Given the description of an element on the screen output the (x, y) to click on. 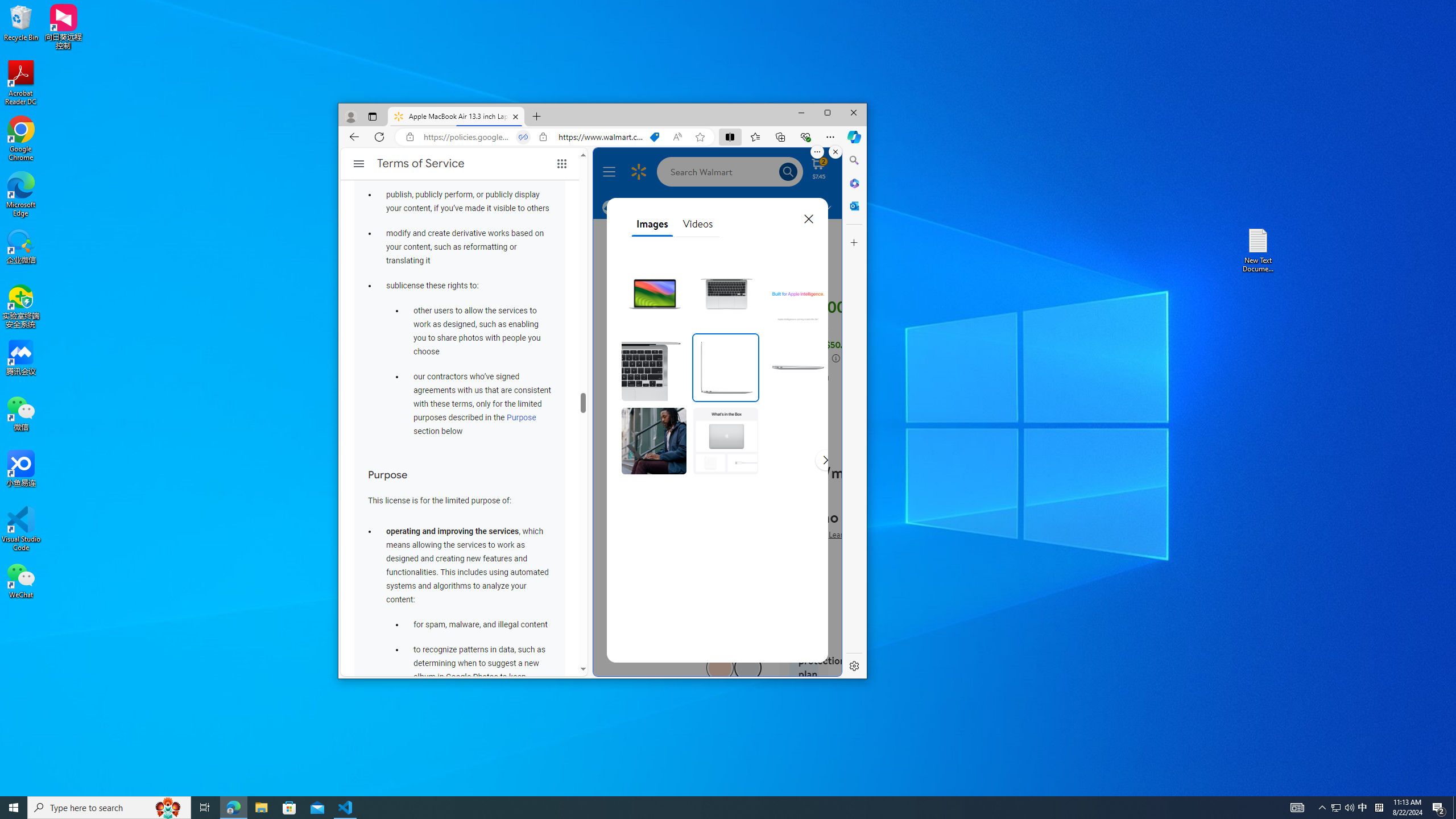
next media item (825, 459)
Running applications (707, 807)
